Given the description of an element on the screen output the (x, y) to click on. 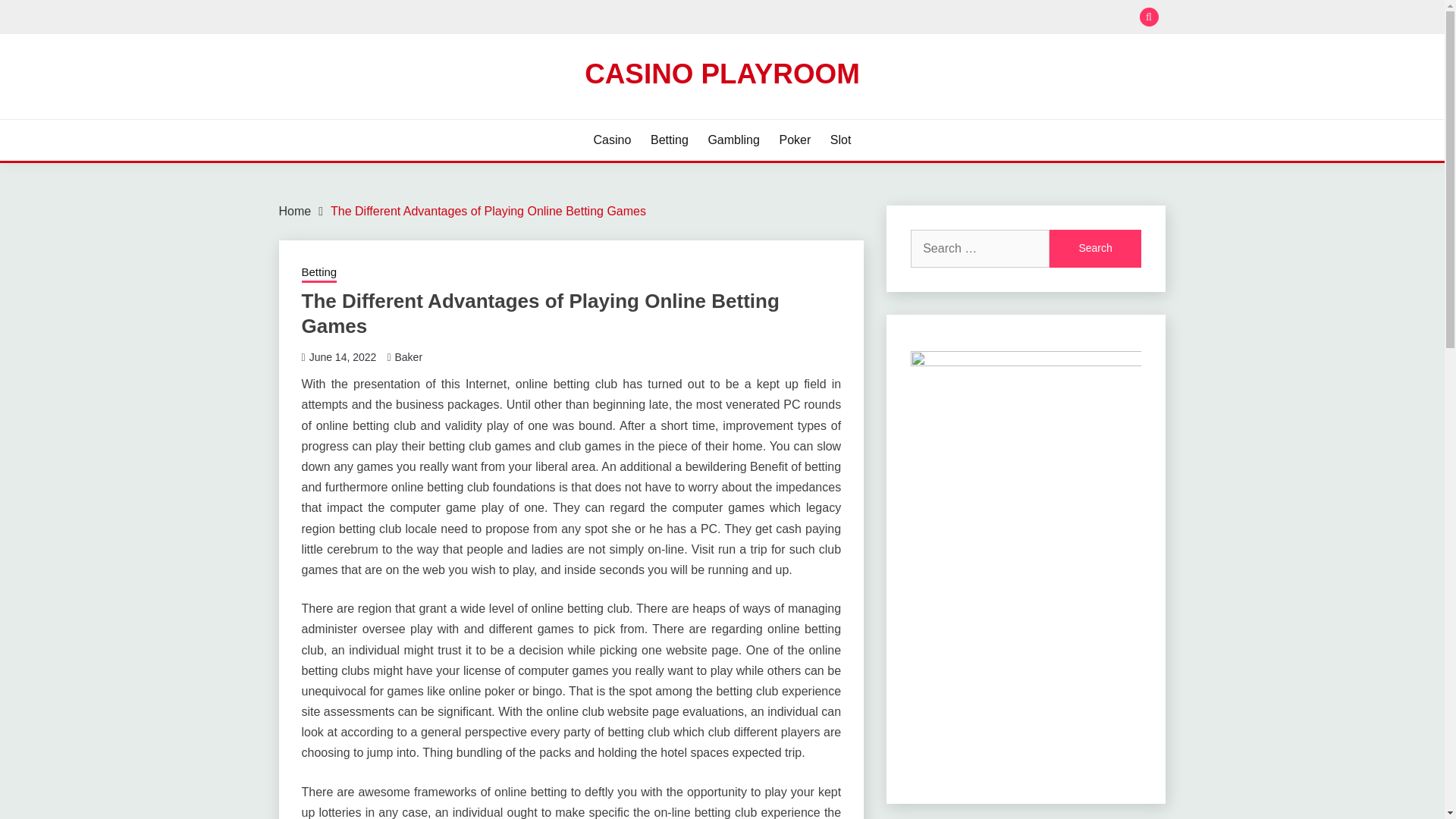
Slot (840, 140)
Poker (794, 140)
June 14, 2022 (342, 357)
Search (1095, 248)
Baker (408, 357)
Search (832, 18)
CASINO PLAYROOM (722, 73)
Betting (669, 140)
Casino (612, 140)
Search (1095, 248)
